Given the description of an element on the screen output the (x, y) to click on. 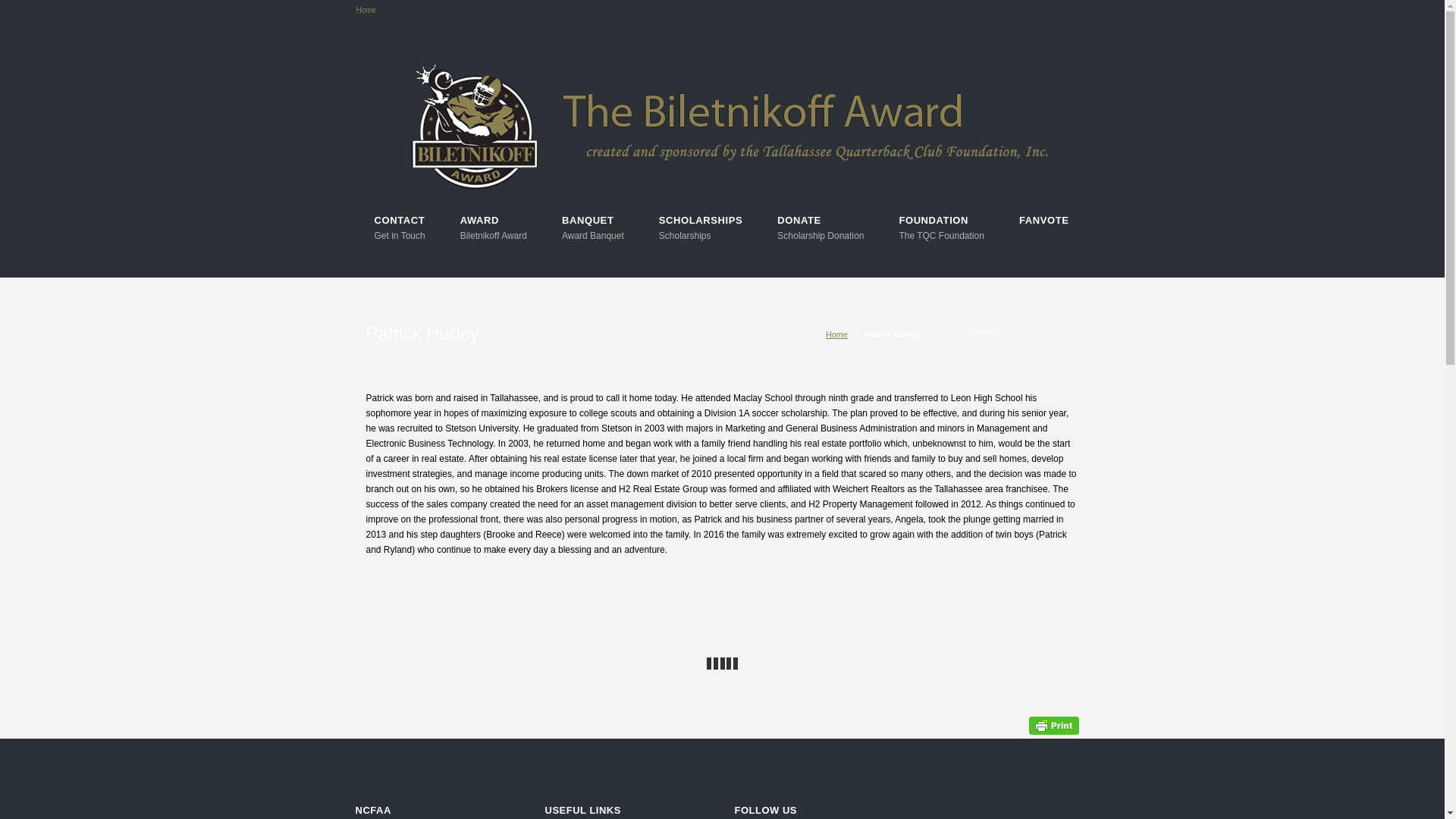
Biletnikoff Award (493, 227)
Search (1016, 331)
Home (593, 227)
